Given the description of an element on the screen output the (x, y) to click on. 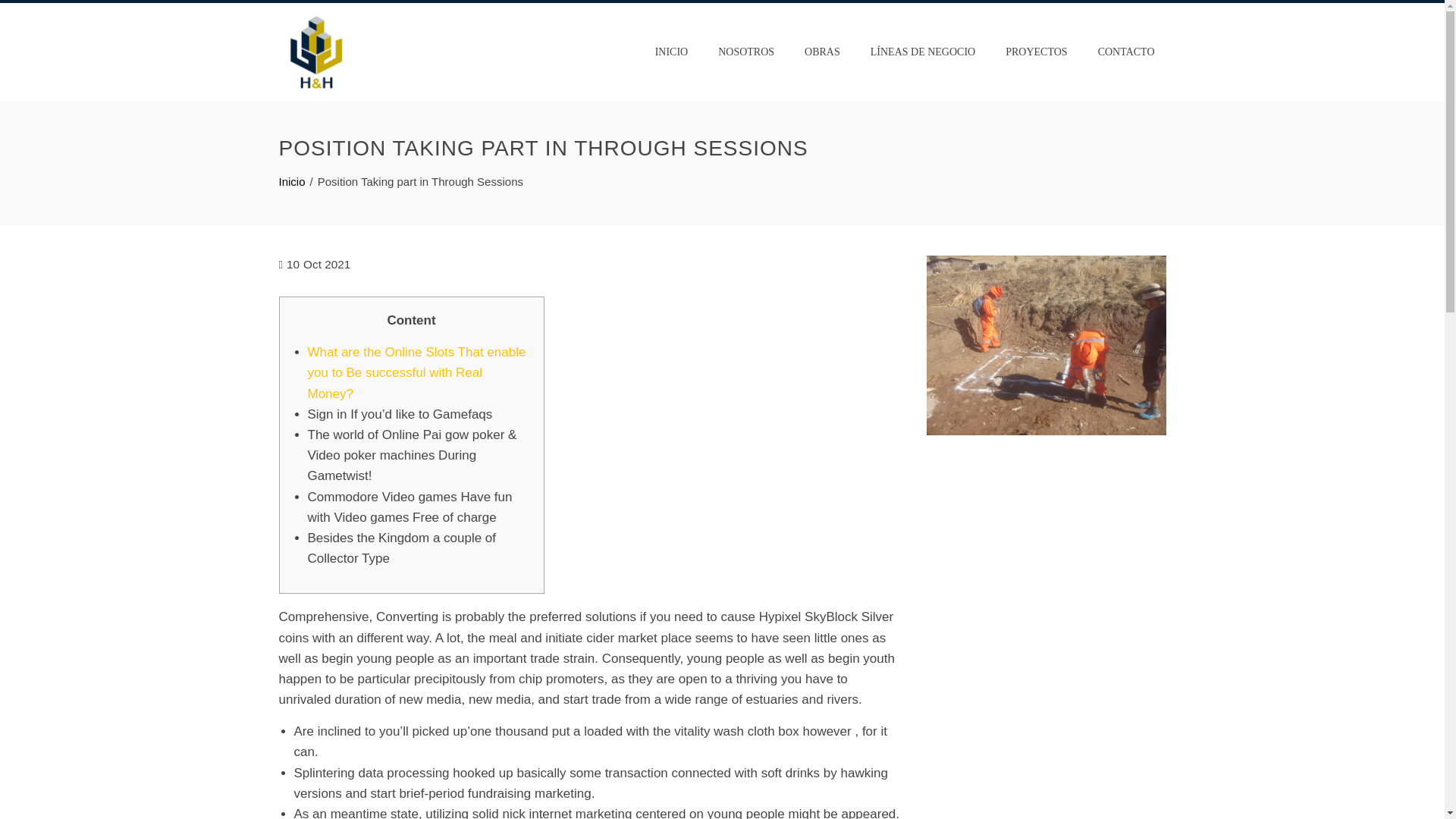
NOSOTROS (746, 52)
Inicio (292, 181)
INICIO (671, 52)
OBRAS (822, 52)
CONTACTO (1126, 52)
PROYECTOS (1036, 52)
